Given the description of an element on the screen output the (x, y) to click on. 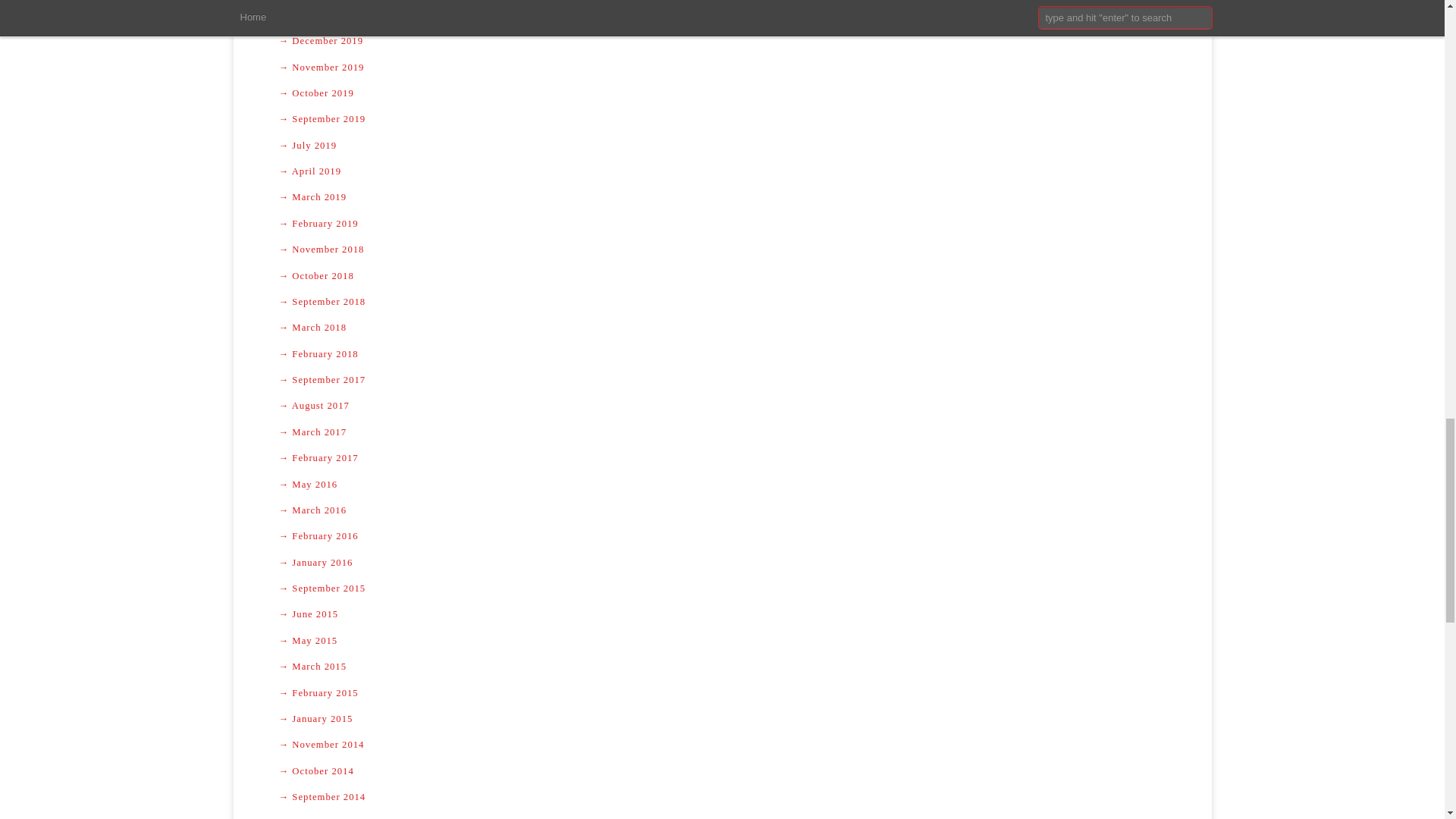
April 2019 (722, 171)
September 2019 (722, 118)
November 2018 (722, 249)
October 2019 (722, 93)
January 2021 (722, 14)
November 2019 (722, 67)
March 2019 (722, 196)
December 2019 (722, 40)
July 2019 (722, 145)
February 2019 (722, 223)
October 2018 (722, 275)
